Given the description of an element on the screen output the (x, y) to click on. 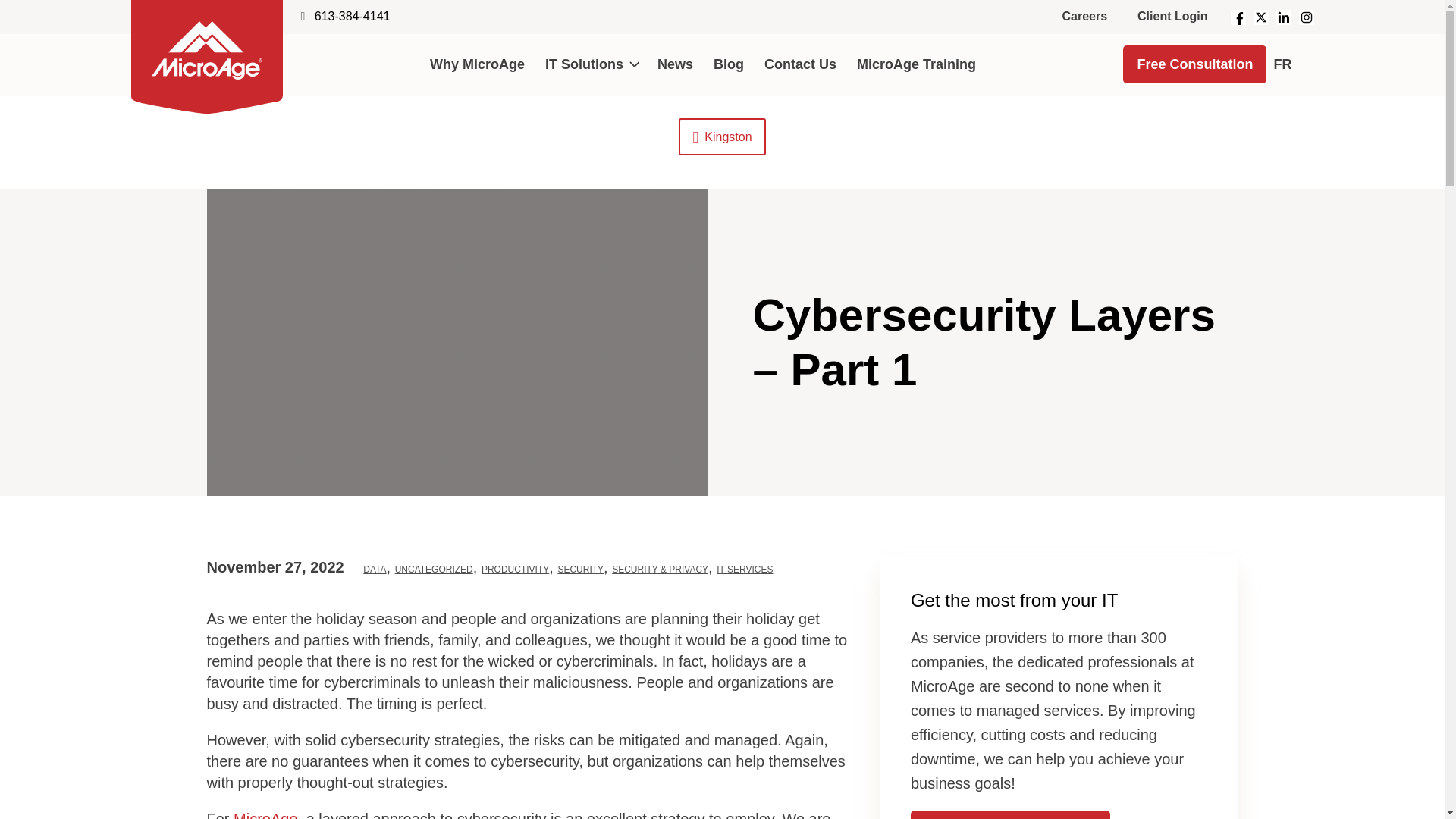
Free Consultation (1194, 64)
Kingston (721, 136)
Blog (728, 64)
Why MicroAge (476, 64)
IT Solutions (590, 64)
News (674, 64)
Client Login (1172, 17)
Contact Us (799, 64)
UNCATEGORIZED (433, 569)
FR (1289, 64)
